Given the description of an element on the screen output the (x, y) to click on. 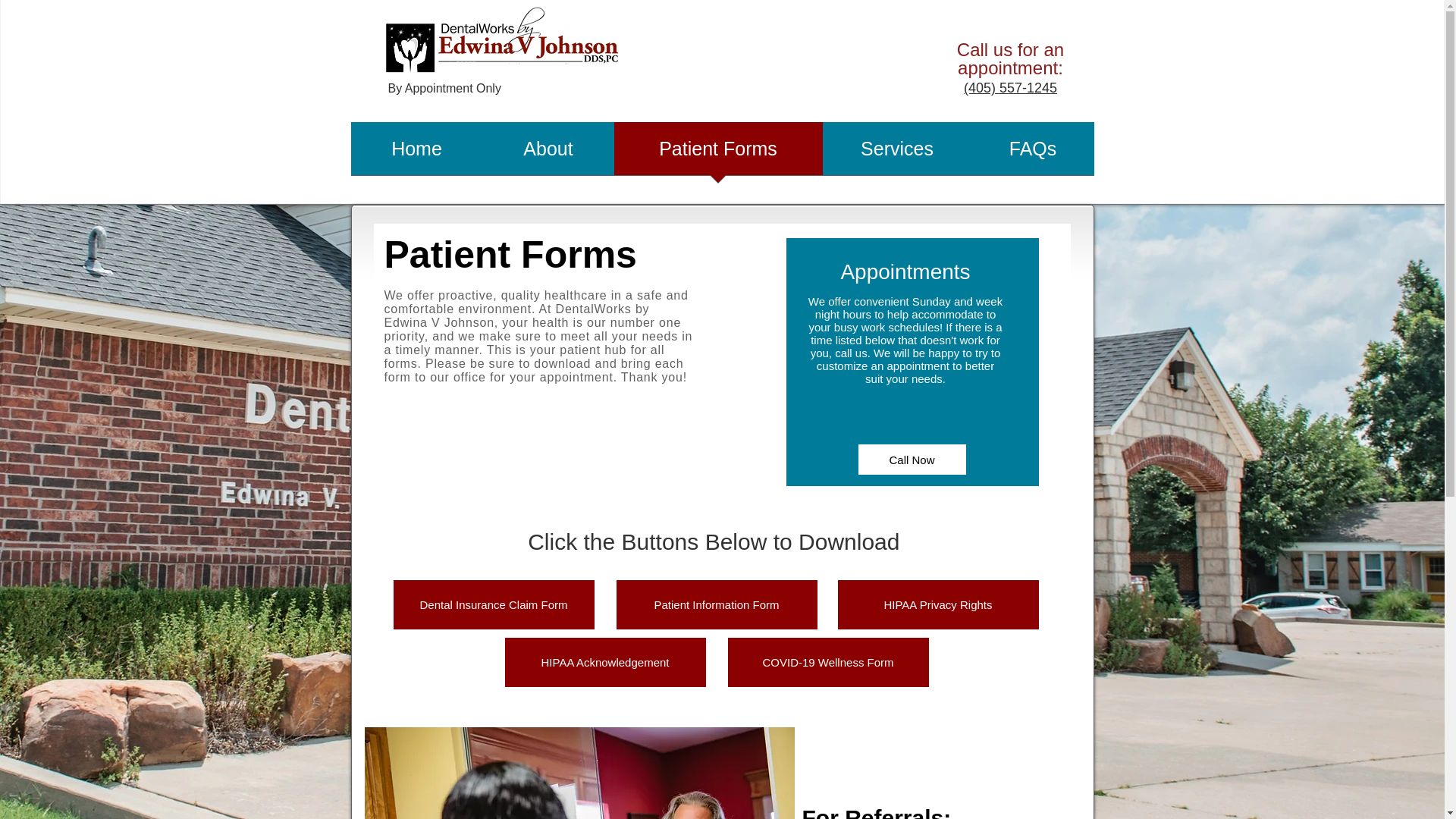
Home (415, 153)
Patient Forms (718, 153)
Services (896, 153)
FAQs (1033, 153)
About (546, 153)
Call Now (912, 459)
Dental Insurance Claim Form (493, 604)
HIPAA Privacy Rights (937, 604)
Patient Information Form (715, 604)
COVID-19 Wellness Form (828, 662)
